Given the description of an element on the screen output the (x, y) to click on. 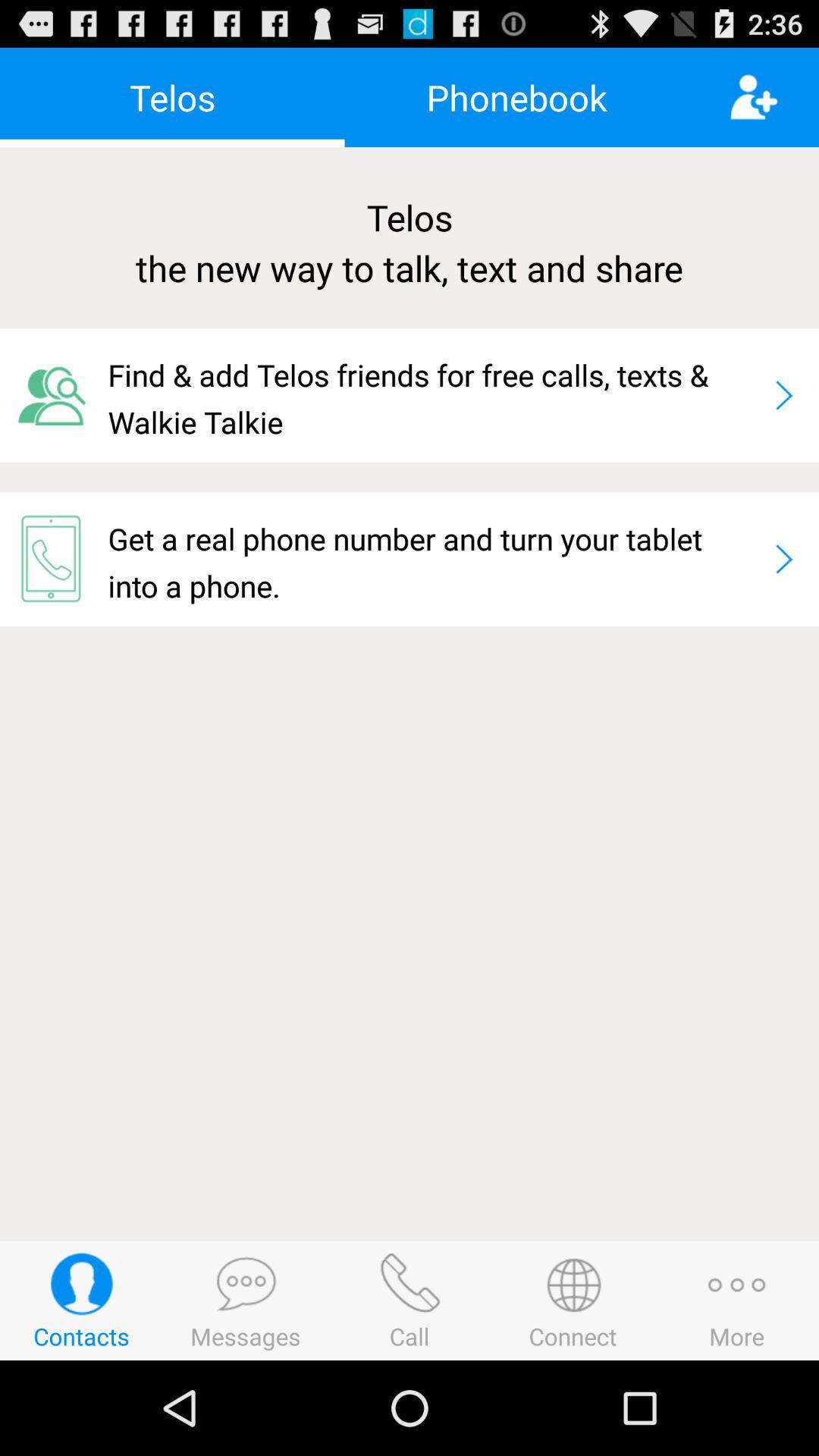
tap app below find add telos (433, 559)
